Given the description of an element on the screen output the (x, y) to click on. 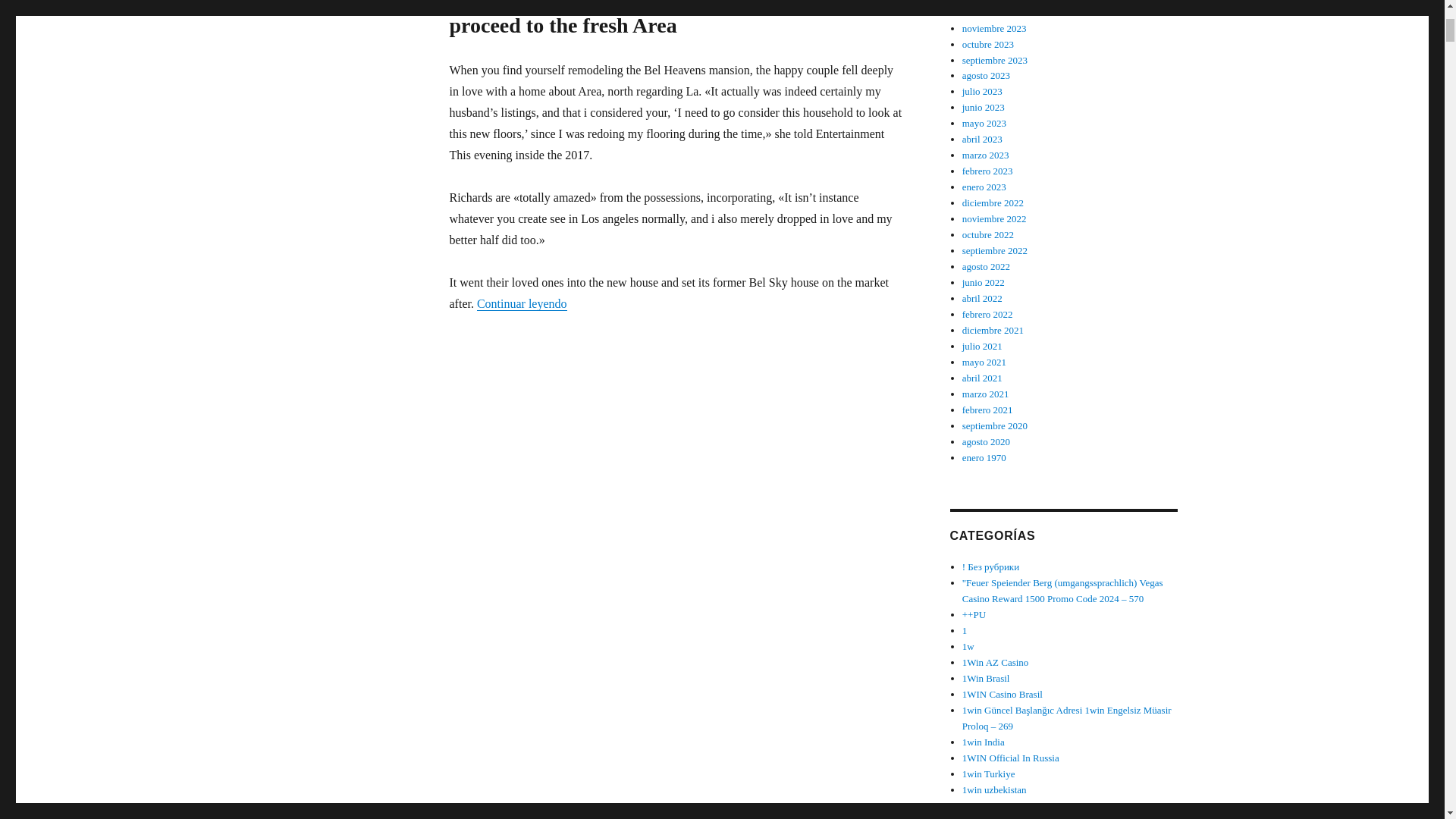
septiembre 2023 (994, 60)
junio 2022 (983, 282)
junio 2023 (983, 107)
noviembre 2023 (994, 28)
agosto 2023 (986, 75)
mayo 2023 (984, 122)
enero 2023 (984, 186)
julio 2023 (982, 91)
septiembre 2022 (994, 250)
marzo 2023 (985, 154)
